Given the description of an element on the screen output the (x, y) to click on. 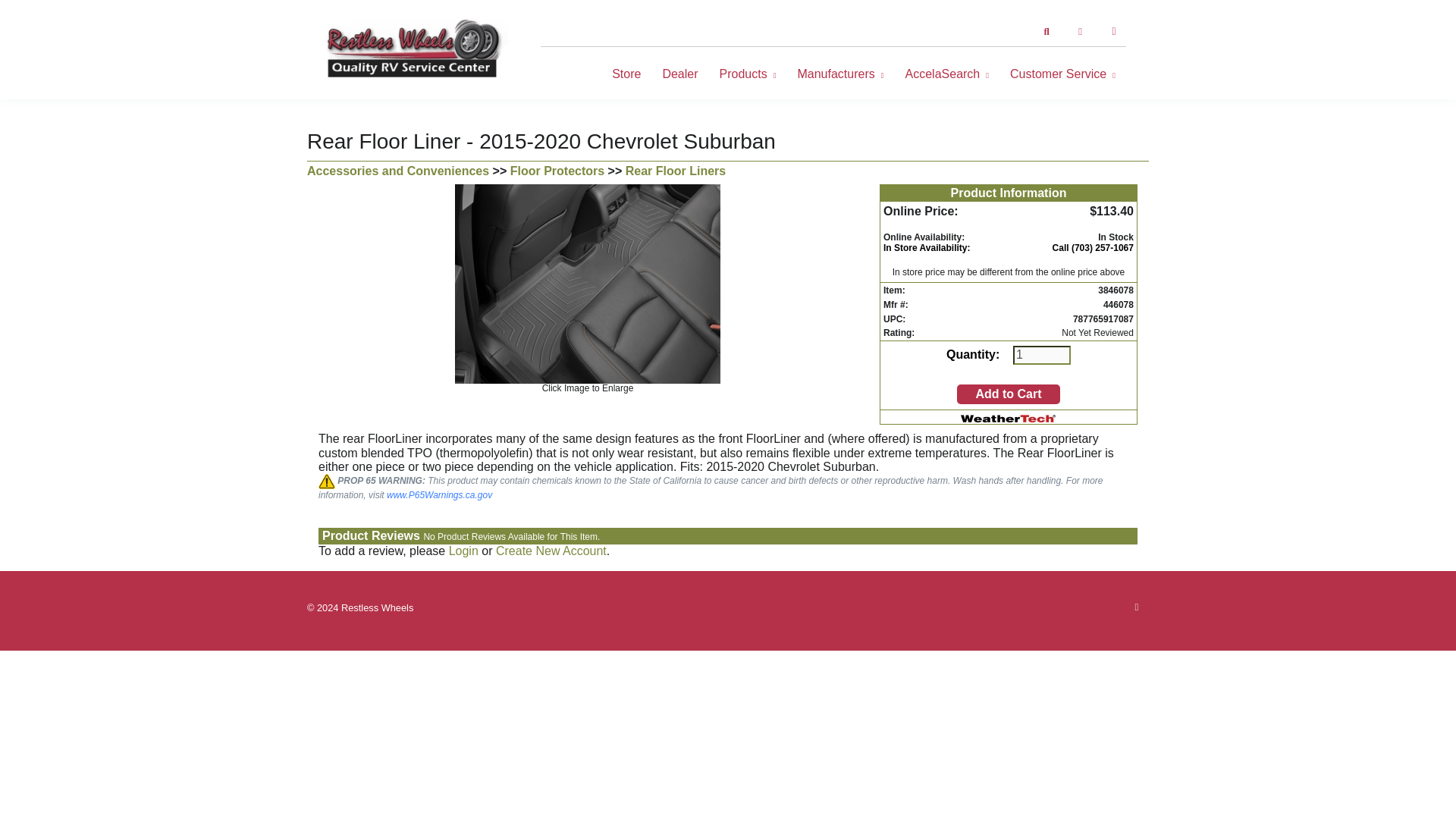
Dealer (678, 74)
Add to Cart (1007, 394)
1 (1041, 354)
Products (748, 74)
Manufacturers (839, 74)
